Given the description of an element on the screen output the (x, y) to click on. 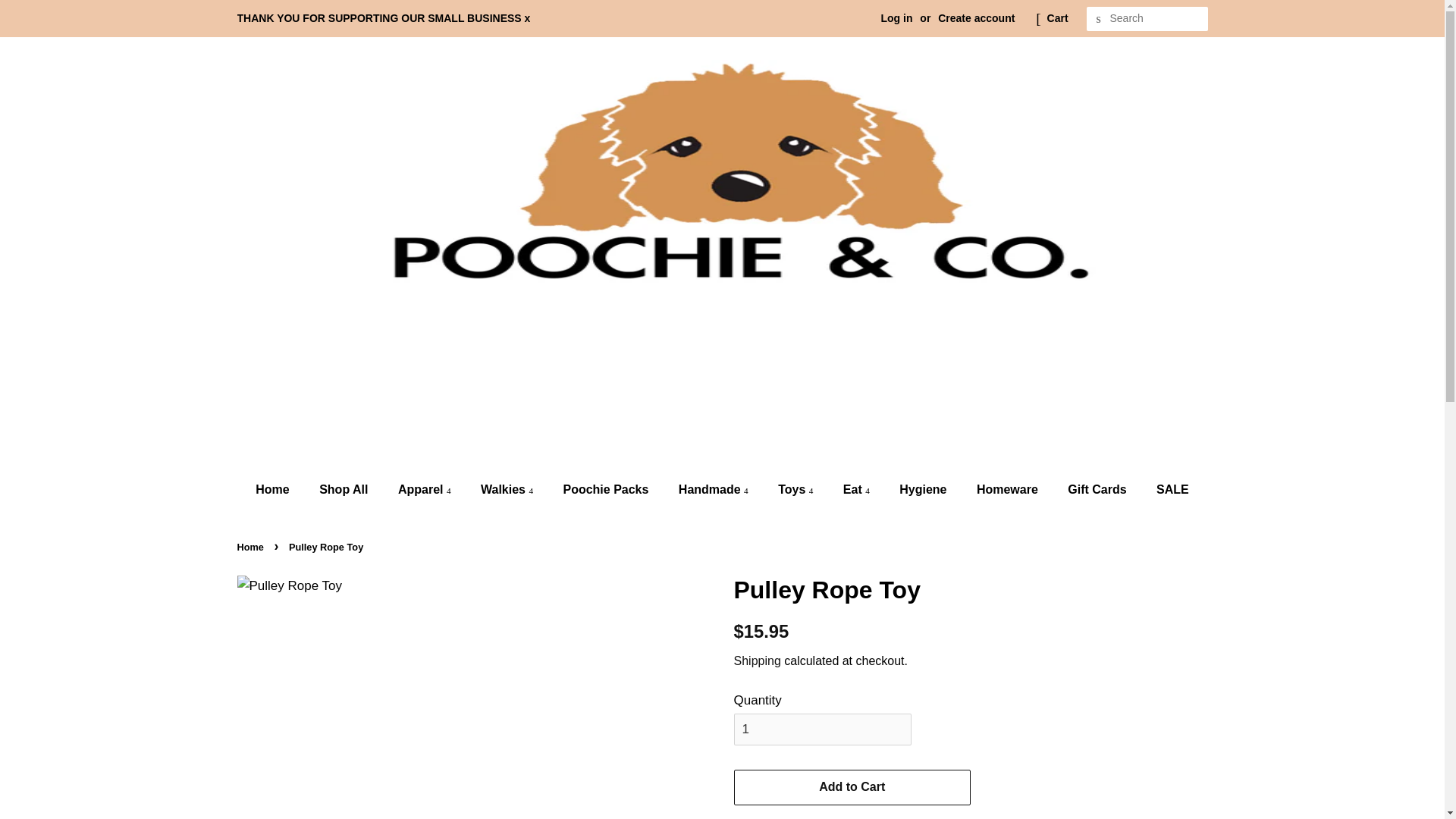
Log in (896, 18)
Search (1097, 18)
THANK YOU FOR SUPPORTING OUR SMALL BUSINESS x (382, 18)
1 (822, 729)
Create account (975, 18)
Cart (1057, 18)
Back to the frontpage (250, 546)
